Given the description of an element on the screen output the (x, y) to click on. 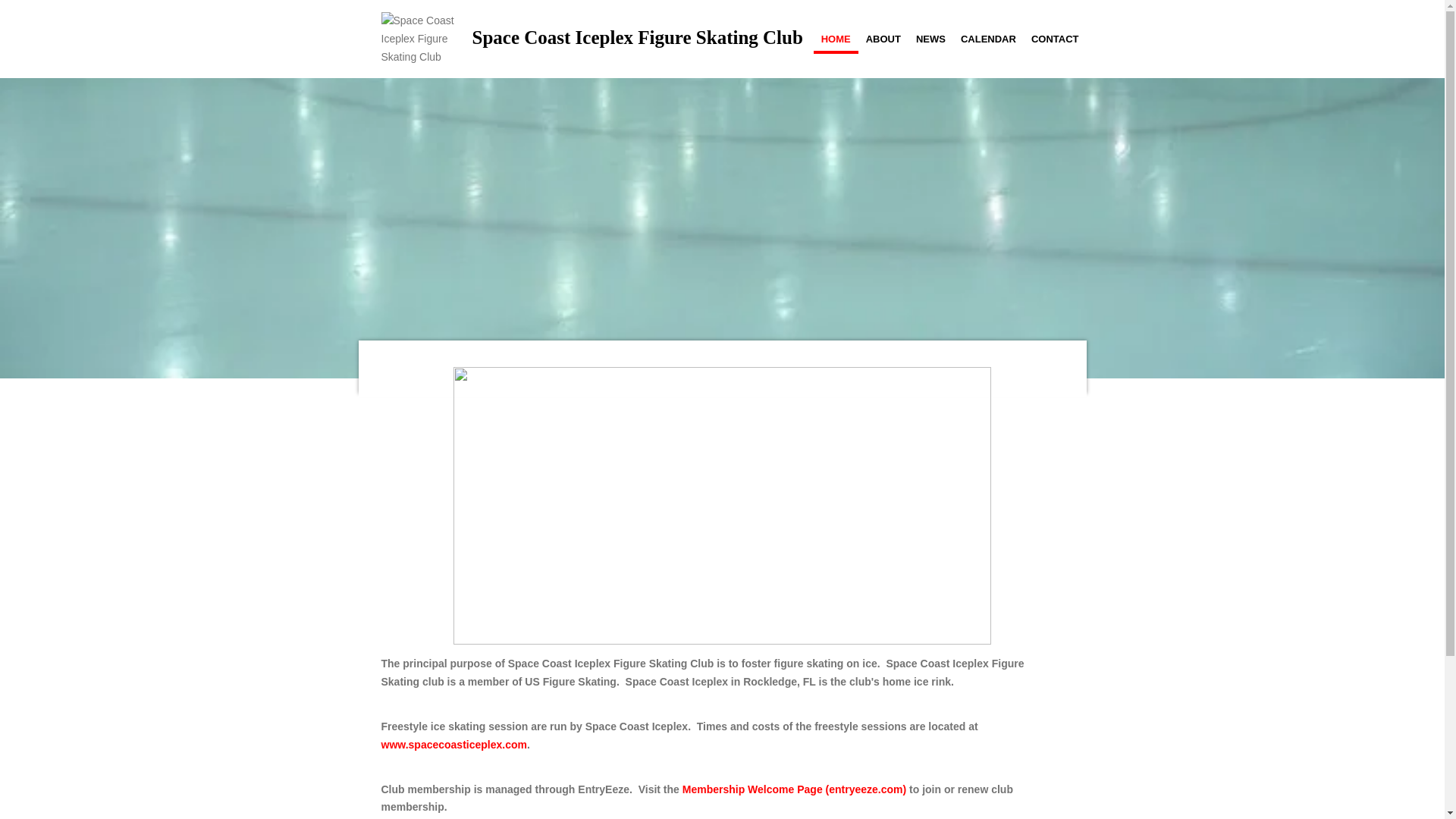
CONTACT (1054, 39)
HOME (836, 39)
www.spacecoasticeplex.com (452, 744)
CALENDAR (988, 39)
Space Coast Iceplex Figure Skating Club (418, 39)
ABOUT (883, 39)
NEWS (930, 39)
